Given the description of an element on the screen output the (x, y) to click on. 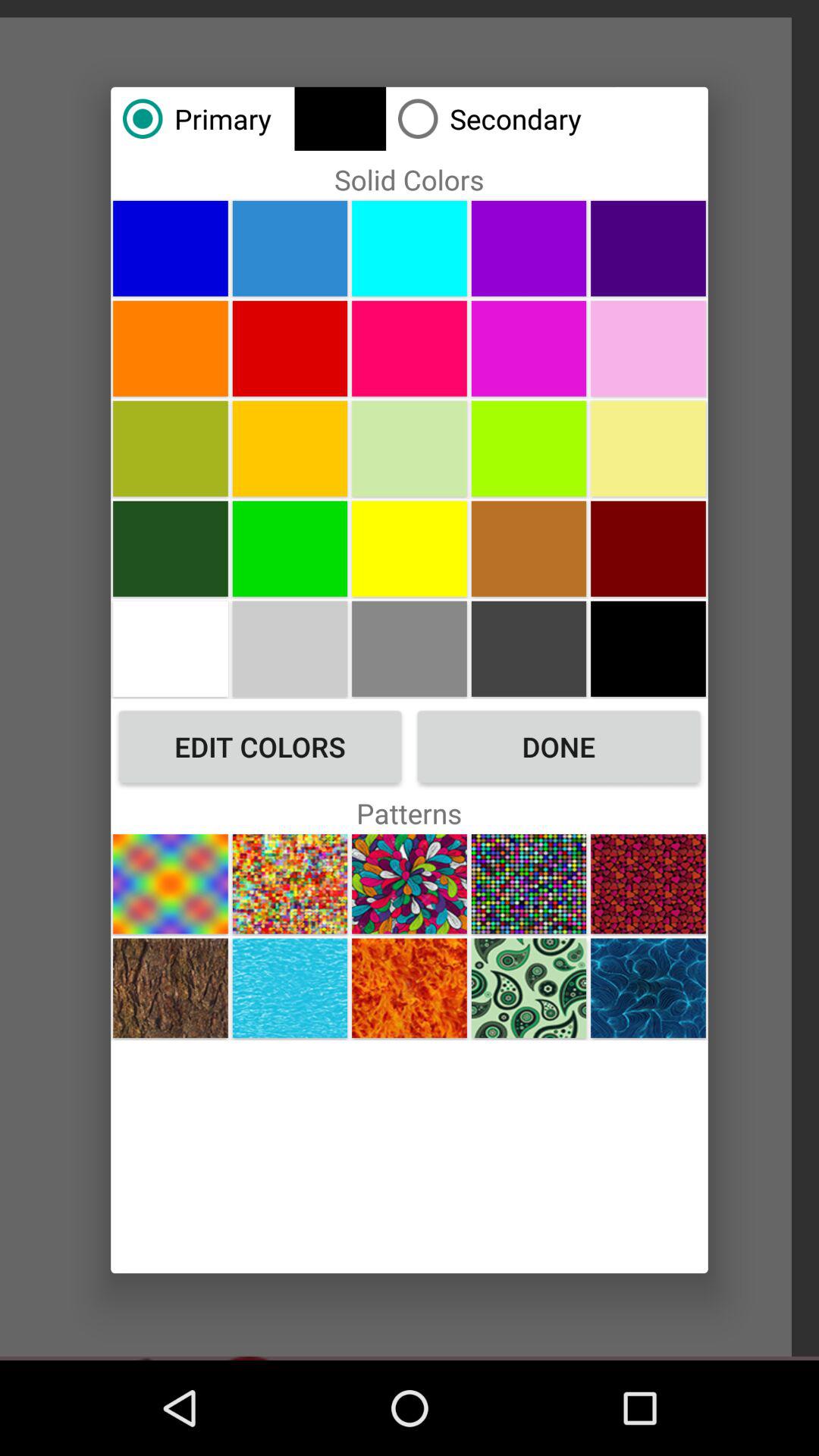
choose black (647, 648)
